Given the description of an element on the screen output the (x, y) to click on. 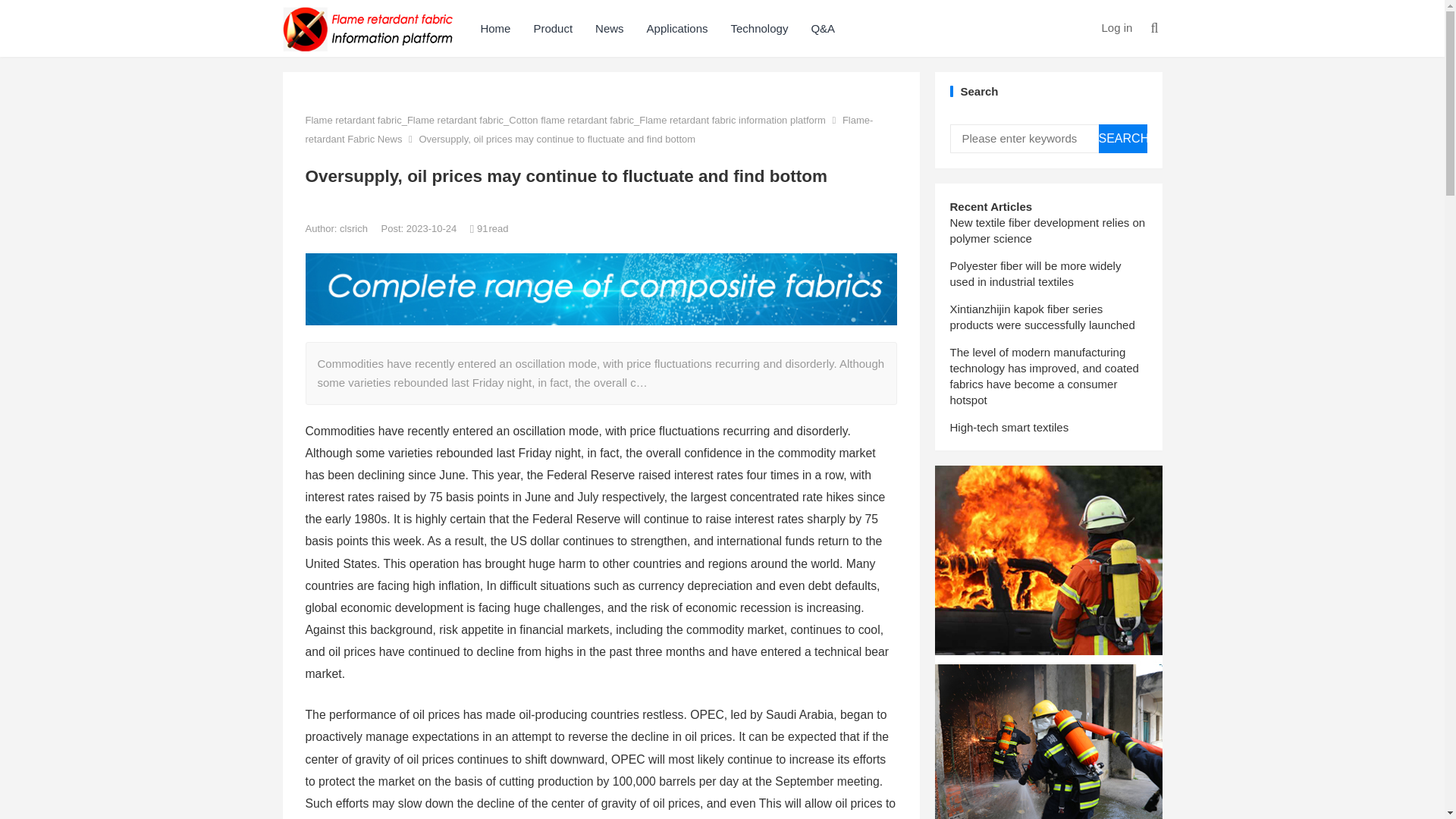
News (608, 28)
New textile fiber development relies on polymer science (1046, 230)
Home (494, 28)
clsrich (354, 228)
Flame-retardant Fabric News (588, 128)
Applications (676, 28)
Technology (759, 28)
Product (552, 28)
Log in (1116, 27)
SEARCH (1122, 138)
